Given the description of an element on the screen output the (x, y) to click on. 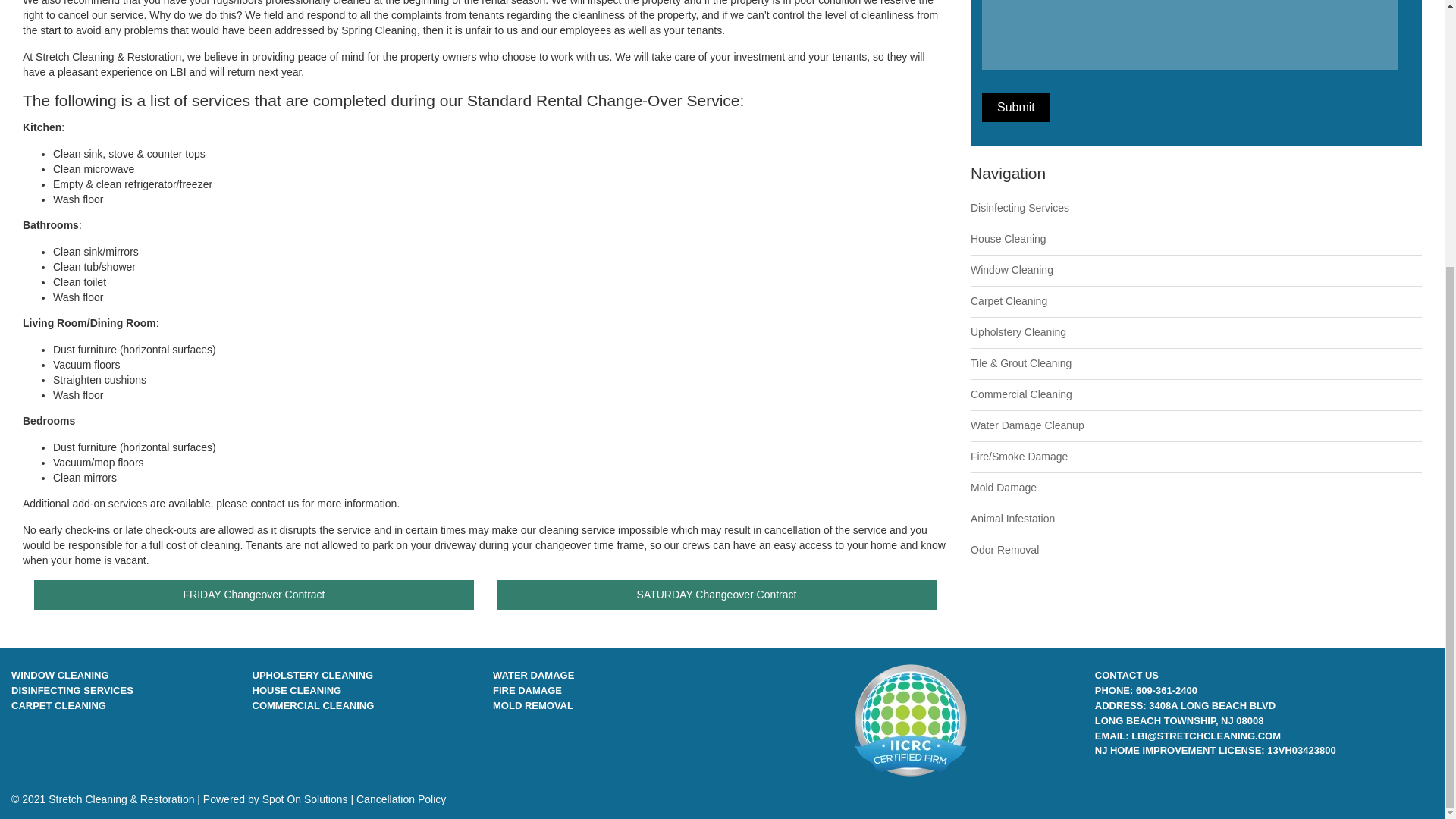
SATURDAY Changeover Contract (716, 594)
FRIDAY Changeover Contract (253, 594)
Submit (1015, 107)
Submit (1015, 107)
